Given the description of an element on the screen output the (x, y) to click on. 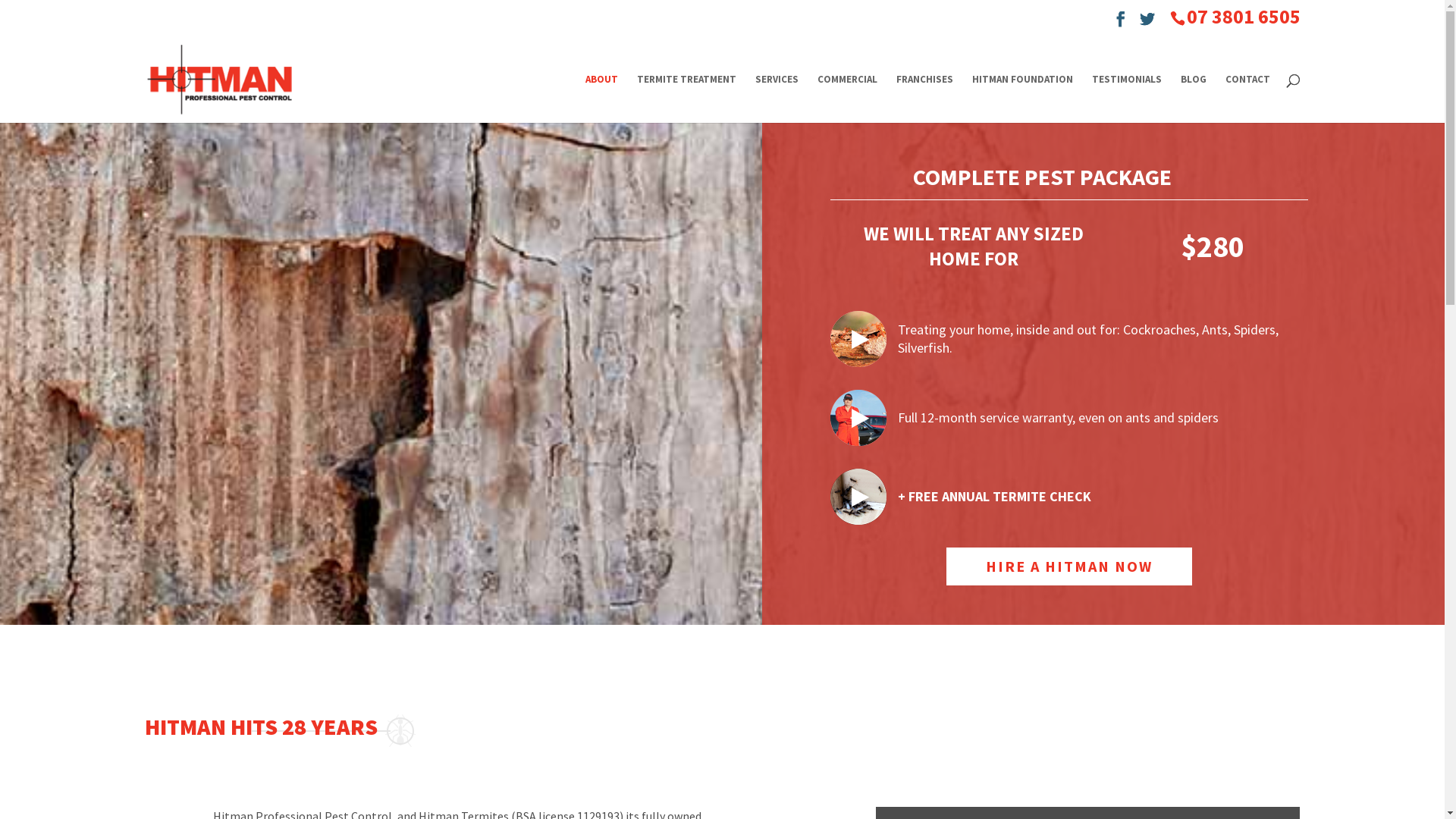
BLOG Element type: text (1192, 98)
HIRE A HITMAN NOW Element type: text (1069, 566)
TESTIMONIALS Element type: text (1126, 98)
CONTACT Element type: text (1247, 98)
TERMITE TREATMENT Element type: text (686, 98)
ABOUT Element type: text (601, 98)
SERVICES Element type: text (776, 98)
COMMERCIAL Element type: text (847, 98)
HITMAN FOUNDATION Element type: text (1022, 98)
FRANCHISES Element type: text (924, 98)
07 3801 6505 Element type: text (1242, 15)
